Given the description of an element on the screen output the (x, y) to click on. 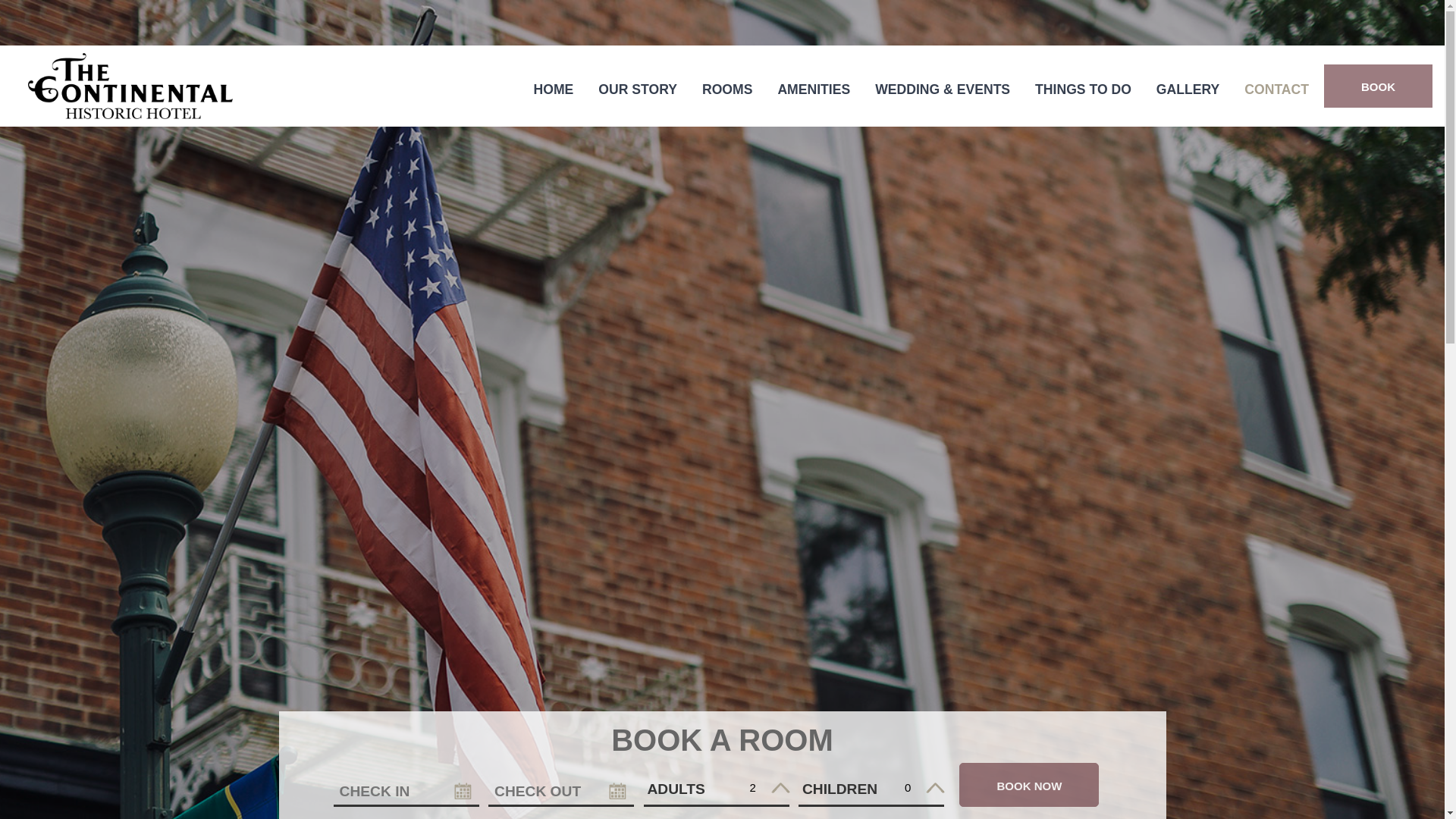
HOME (553, 90)
BOOK NOW (1029, 784)
ROOMS (727, 90)
BOOK (1377, 86)
OUR STORY (637, 90)
Next (1412, 30)
CONTACT (1276, 90)
THINGS TO DO (1083, 90)
GALLERY (1187, 90)
AMENITIES (813, 90)
Previous (1386, 30)
